Given the description of an element on the screen output the (x, y) to click on. 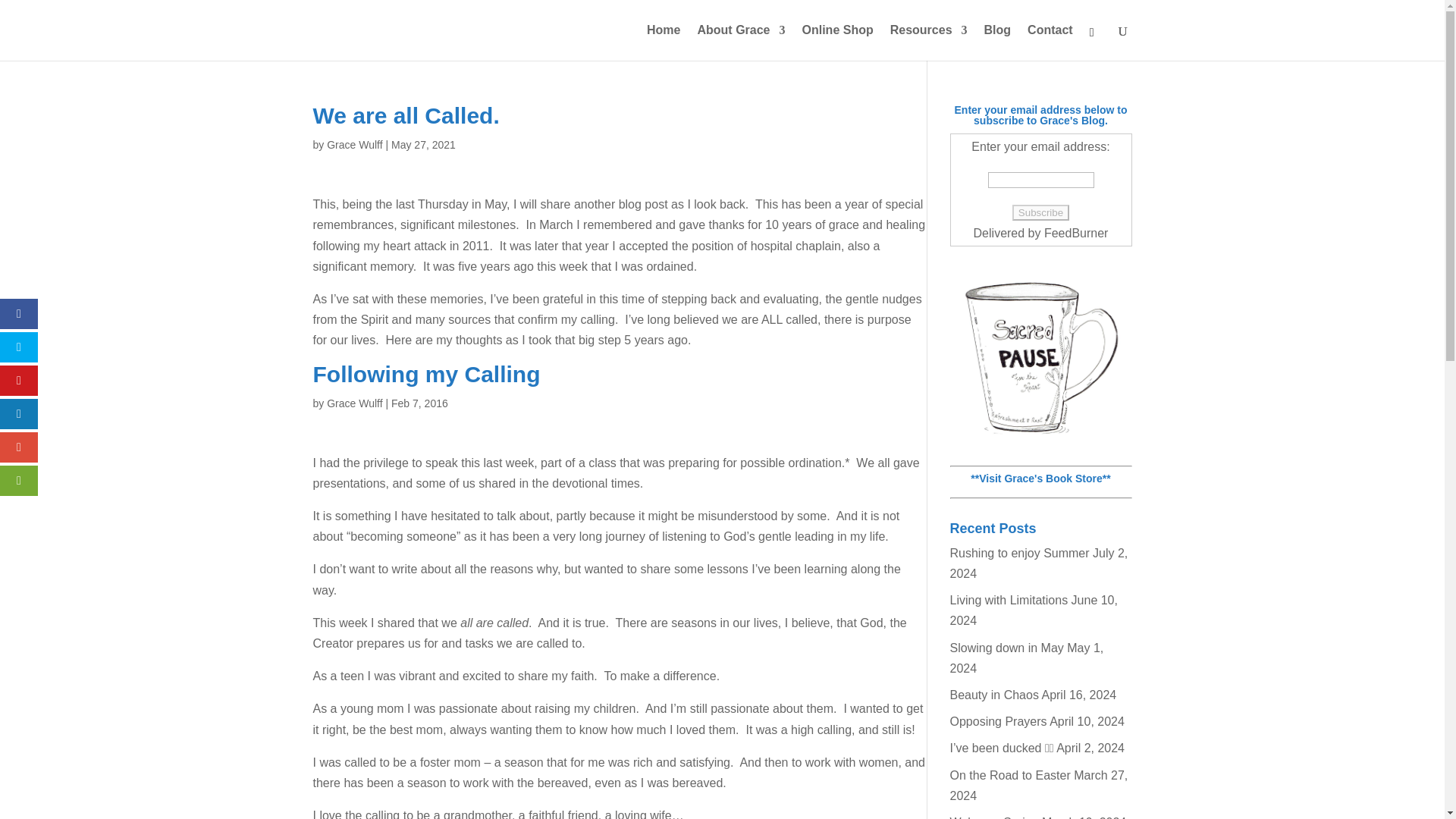
Online Shop (837, 42)
Rushing to enjoy Summer (1019, 553)
Home (662, 42)
Living with Limitations (1008, 599)
Posts by Grace Wulff (353, 144)
FeedBurner (1075, 232)
Contact (1050, 42)
About Grace (740, 42)
Slowing down in May (1005, 647)
Beauty in Chaos (993, 694)
Posts by Grace Wulff (353, 403)
Subscribe (1039, 212)
Resources (928, 42)
Grace Wulff (353, 144)
Grace Wulff (353, 403)
